Given the description of an element on the screen output the (x, y) to click on. 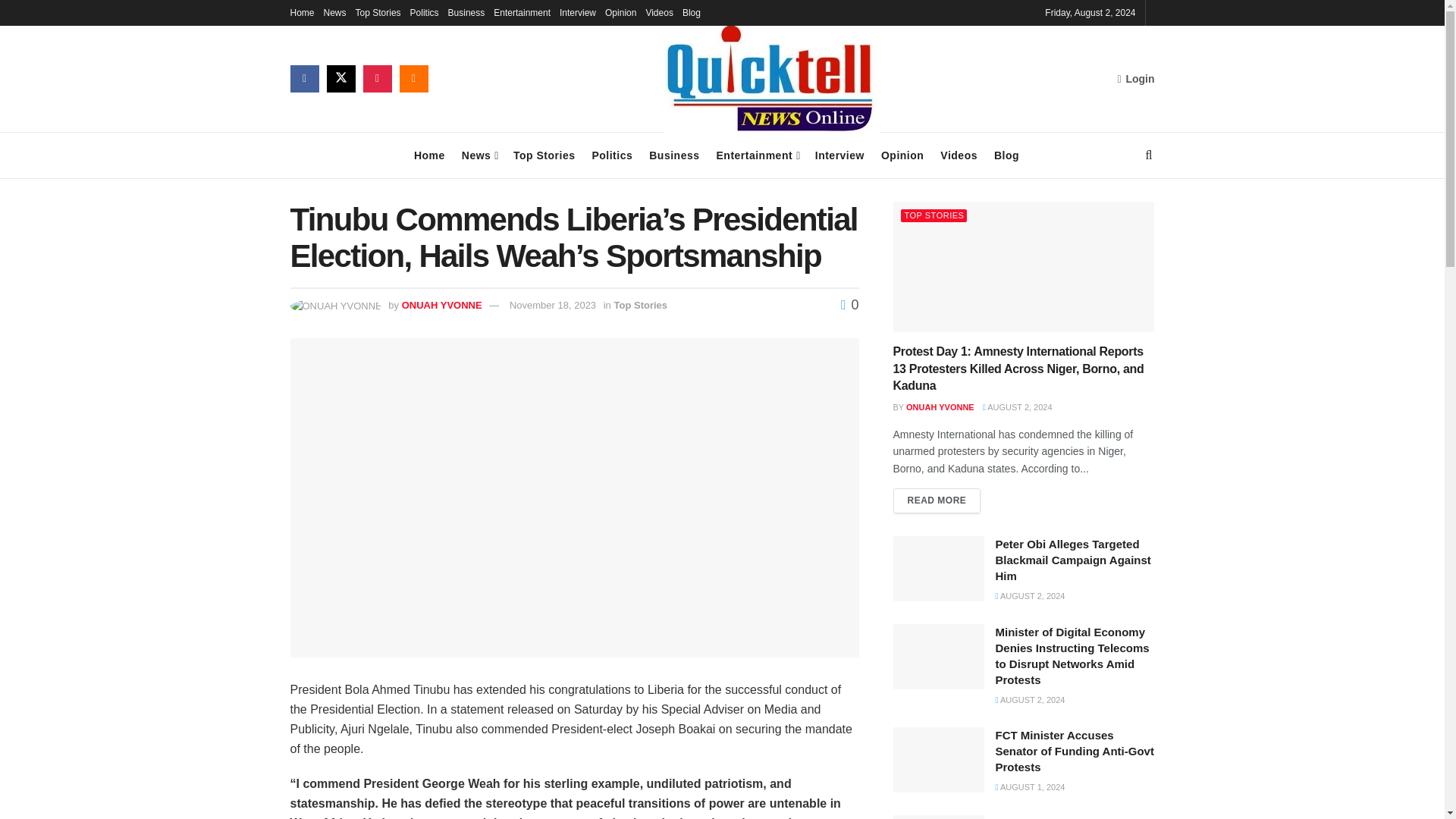
Interview (577, 12)
Entertainment (521, 12)
Business (466, 12)
Home (301, 12)
Business (673, 155)
Login (1135, 78)
Entertainment (756, 155)
News (478, 155)
Politics (611, 155)
Top Stories (544, 155)
Home (429, 155)
Interview (839, 155)
Blog (1006, 155)
Videos (958, 155)
Opinion (901, 155)
